Given the description of an element on the screen output the (x, y) to click on. 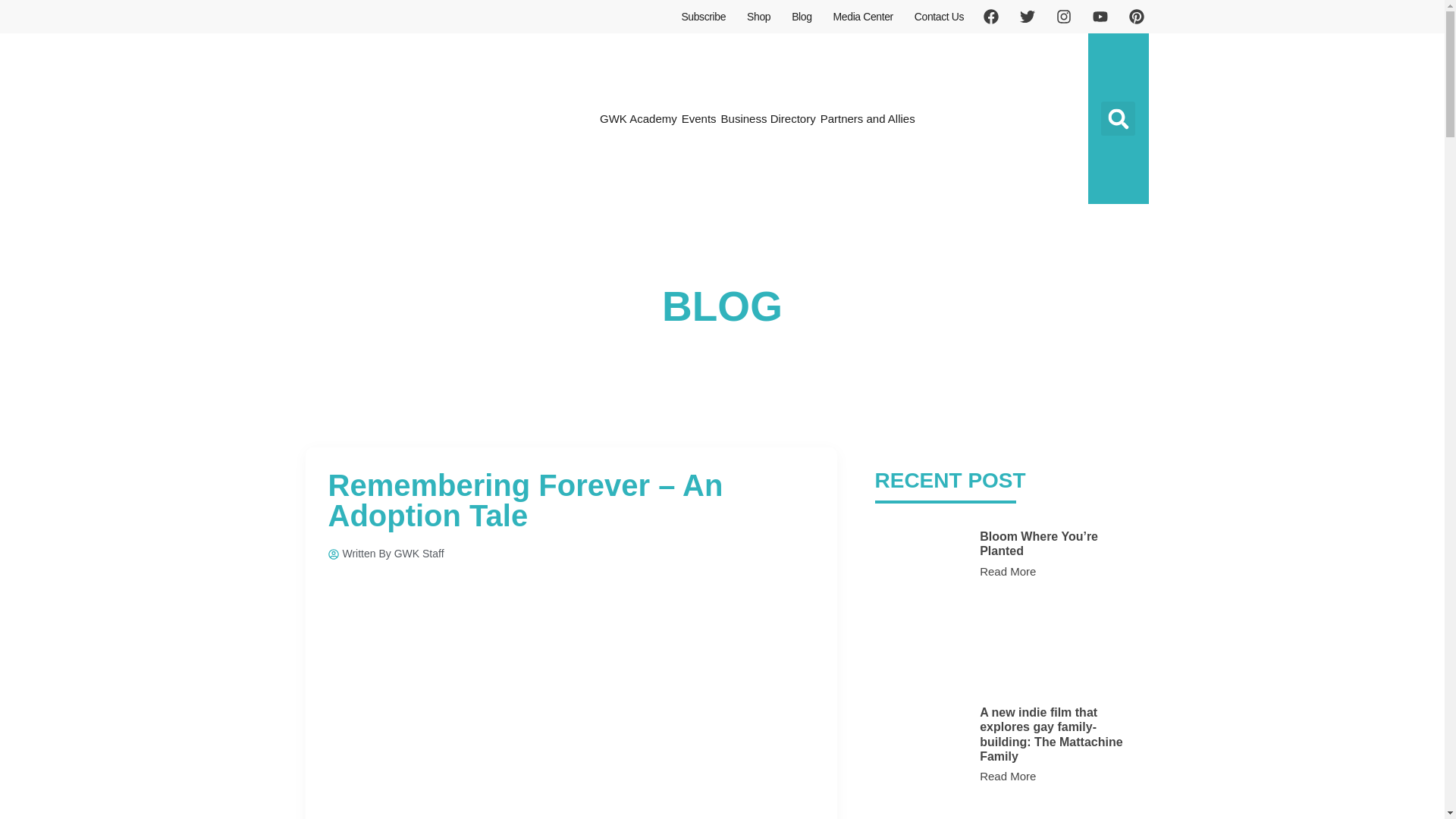
GWK Academy (637, 118)
Media Center (862, 16)
Contact Us (938, 16)
Events (699, 118)
Partners and Allies (867, 118)
Subscribe (703, 16)
Business Directory (768, 118)
Blog (801, 16)
Written By GWK Staff (385, 553)
Shop (758, 16)
